Given the description of an element on the screen output the (x, y) to click on. 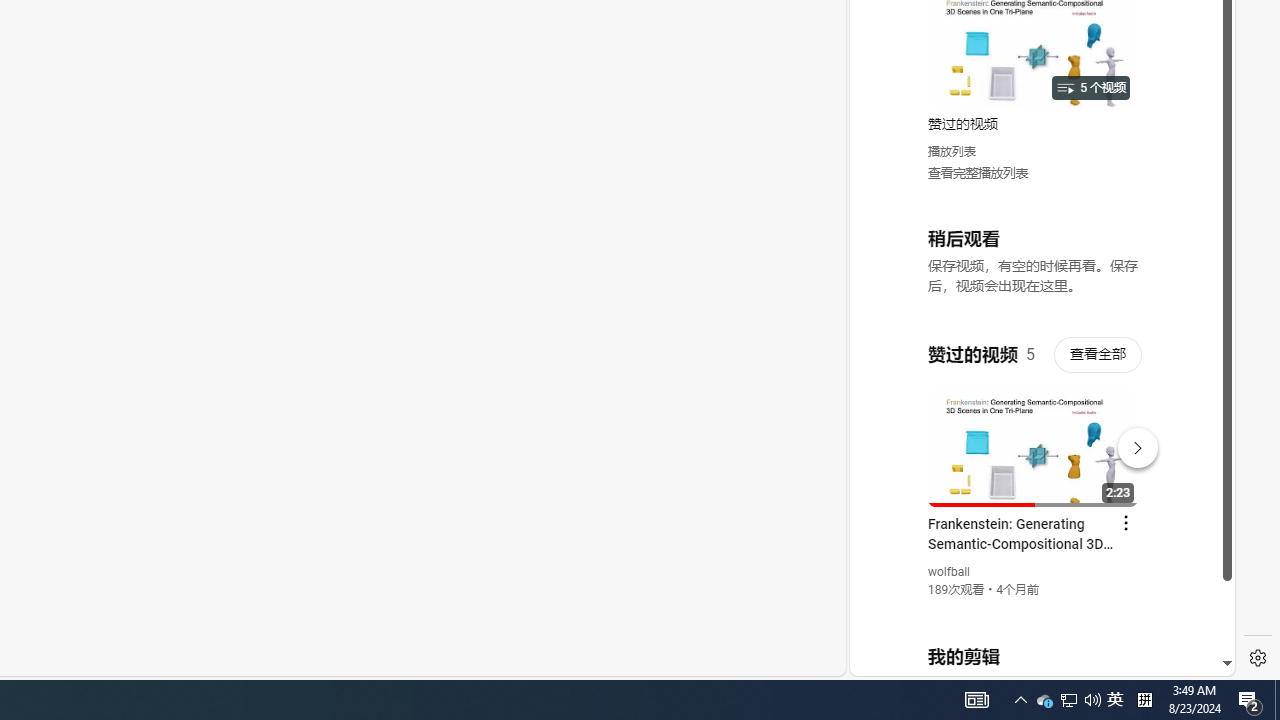
US[ju] (917, 660)
Class: dict_pnIcon rms_img (1028, 660)
wolfball (949, 572)
